Given the description of an element on the screen output the (x, y) to click on. 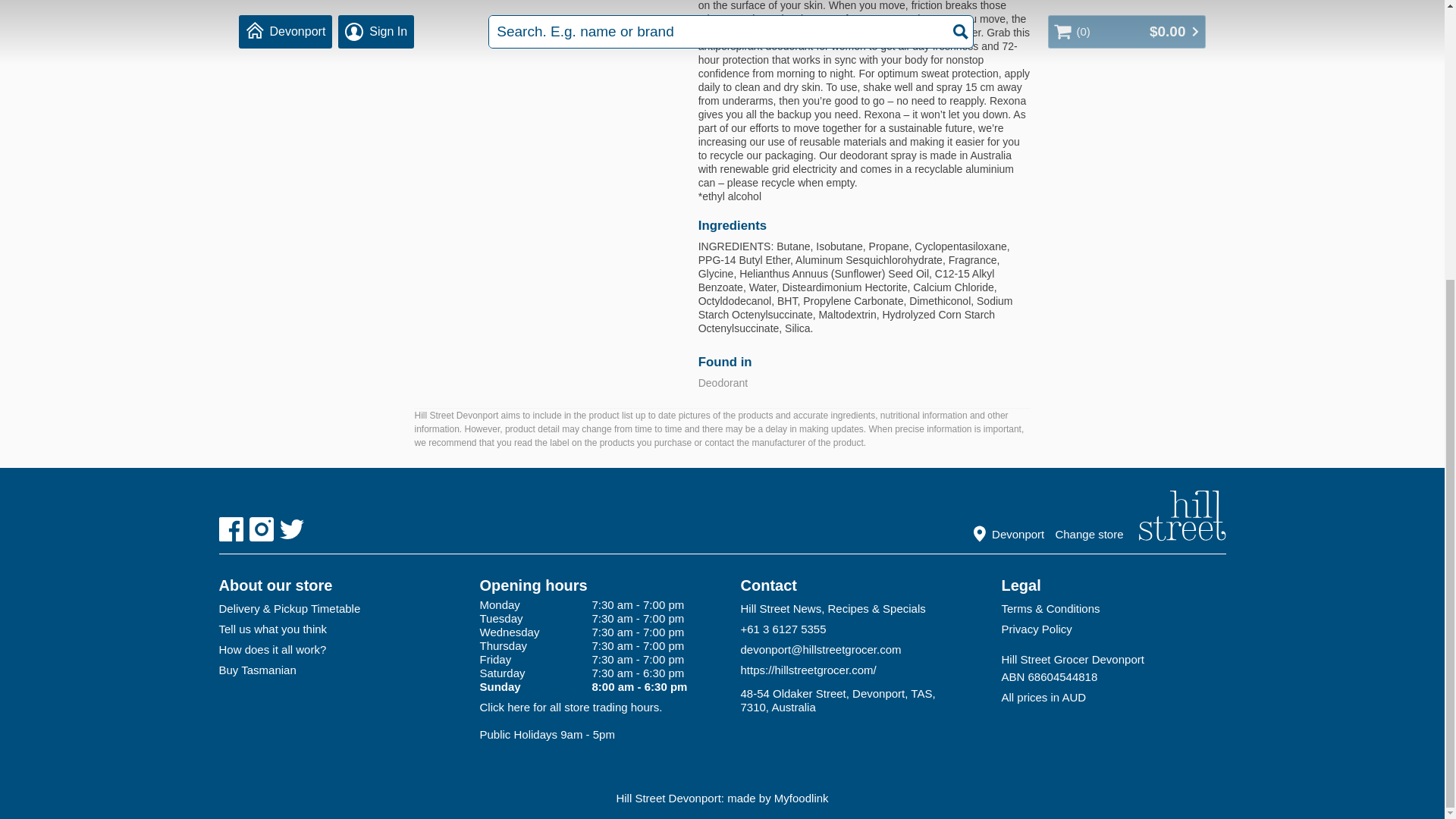
Facebook (230, 528)
Buy Tasmanian (330, 670)
Click here for all store trading hours. (570, 707)
48-54 Oldaker Street, Devonport, TAS, 7310, Australia (851, 700)
Deodorant (723, 382)
Tell us what you think (330, 629)
Instagram hillstreetgrocer (260, 528)
Myfoodlink (801, 797)
Privacy Policy (1113, 629)
Devonport Change store (1054, 531)
